Given the description of an element on the screen output the (x, y) to click on. 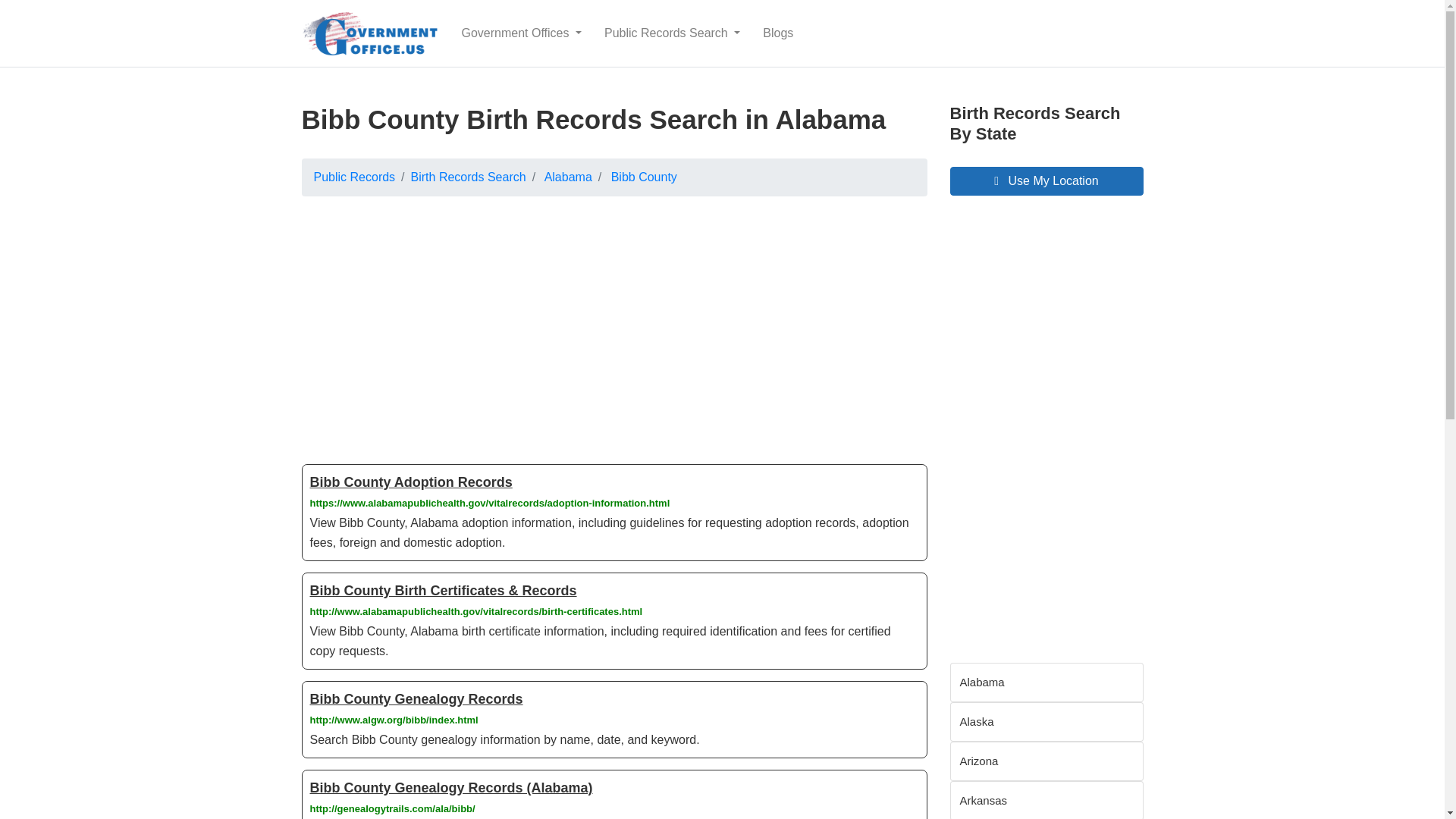
Advertisement (614, 321)
Public Records Search (671, 33)
Government Offices (521, 33)
